Given the description of an element on the screen output the (x, y) to click on. 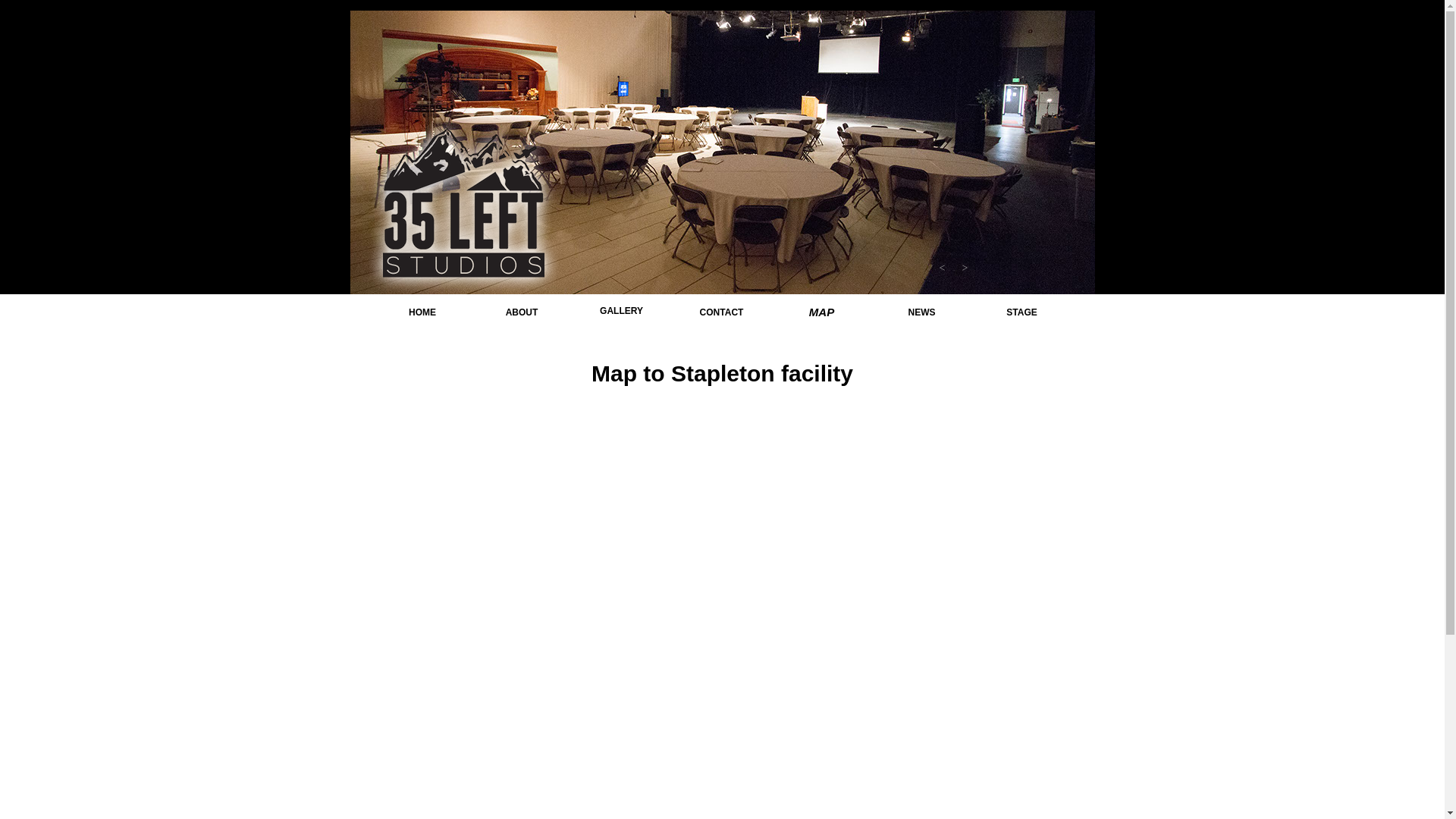
NEWS Element type: text (921, 312)
HOME Element type: text (421, 312)
ABOUT Element type: text (522, 312)
GALLERY Element type: text (620, 312)
CONTACT Element type: text (720, 312)
STAGE Element type: text (1021, 312)
MAP Element type: text (820, 312)
